Given the description of an element on the screen output the (x, y) to click on. 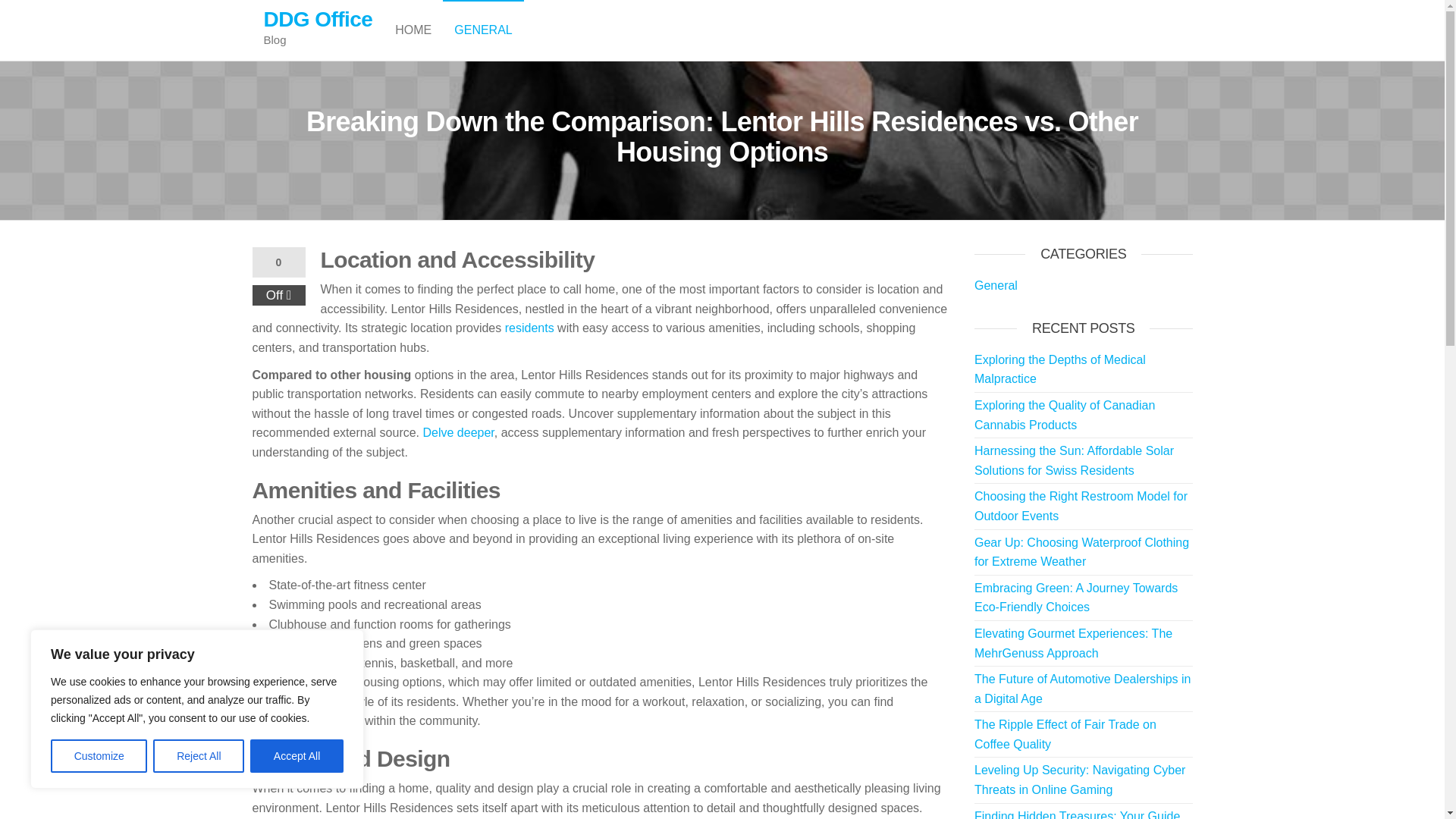
The Ripple Effect of Fair Trade on Coffee Quality (1065, 734)
Gear Up: Choosing Waterproof Clothing for Extreme Weather (1081, 552)
Delve deeper (459, 431)
HOME (413, 30)
DDG Office (317, 19)
Reject All (198, 756)
residents (529, 327)
Customize (98, 756)
Embracing Green: A Journey Towards Eco-Friendly Choices (1075, 597)
